Given the description of an element on the screen output the (x, y) to click on. 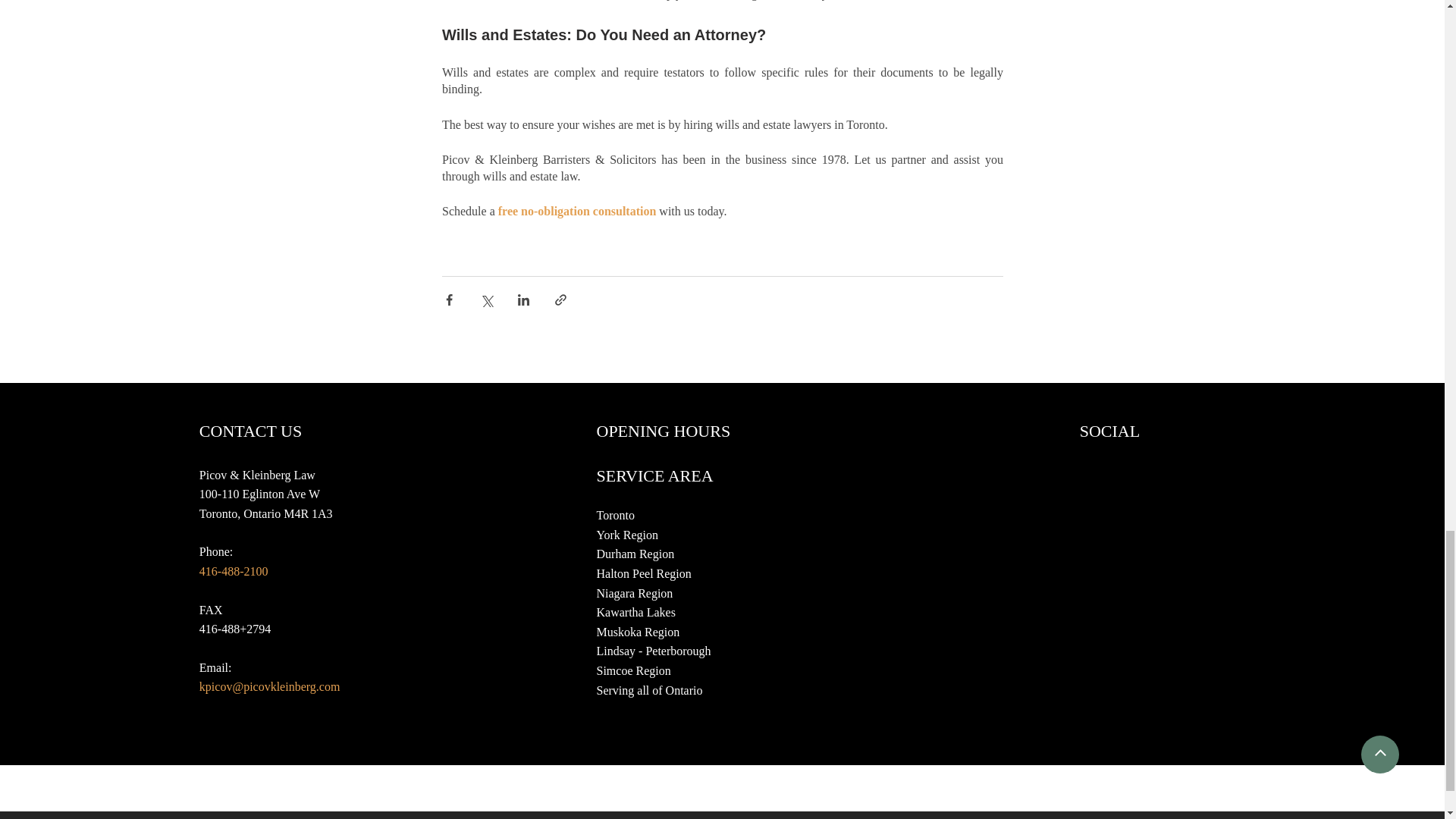
416-488-2100  (234, 571)
free no-obligation consultation (576, 210)
